Given the description of an element on the screen output the (x, y) to click on. 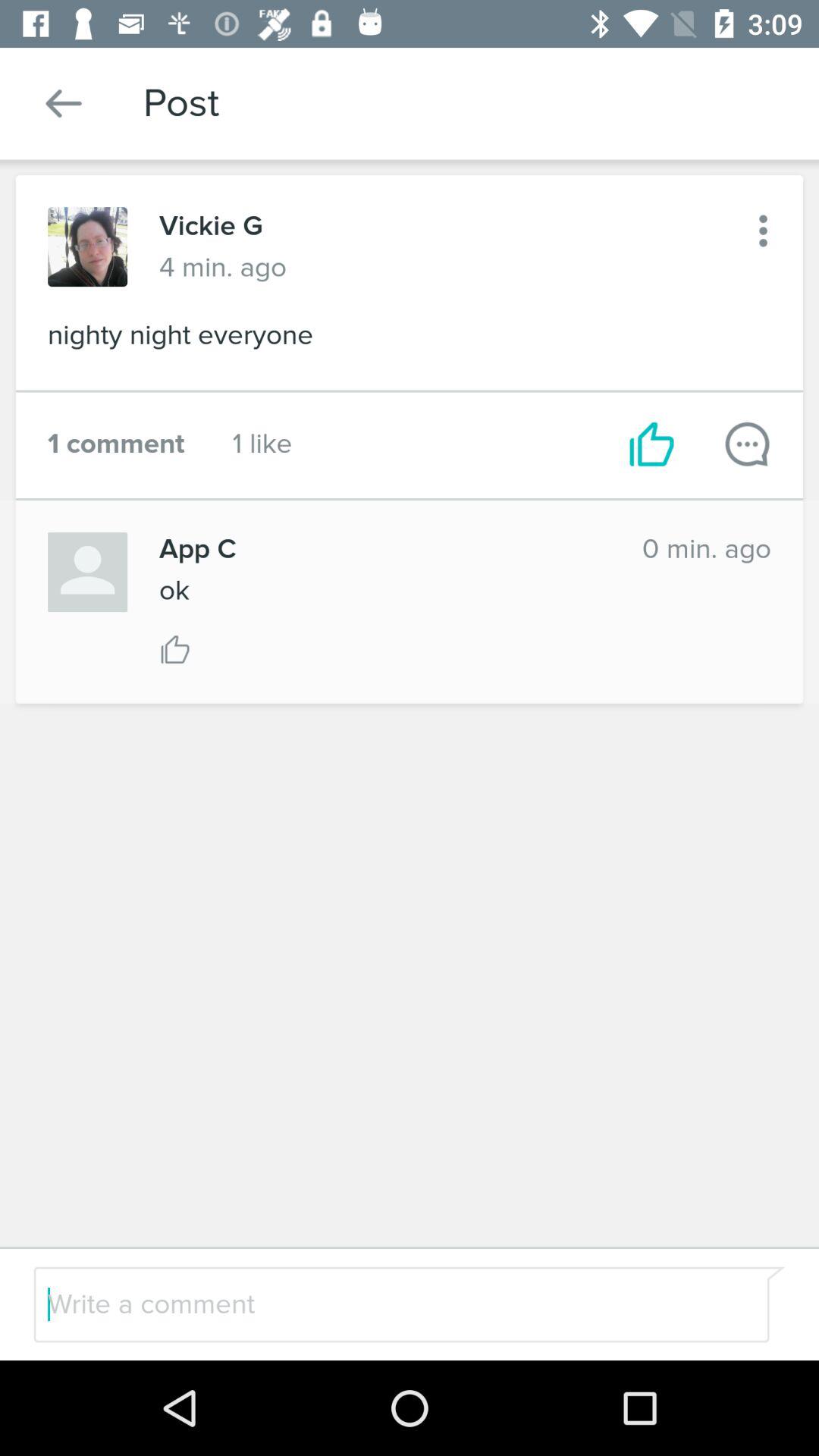
select the 1 comment item (115, 444)
